Given the description of an element on the screen output the (x, y) to click on. 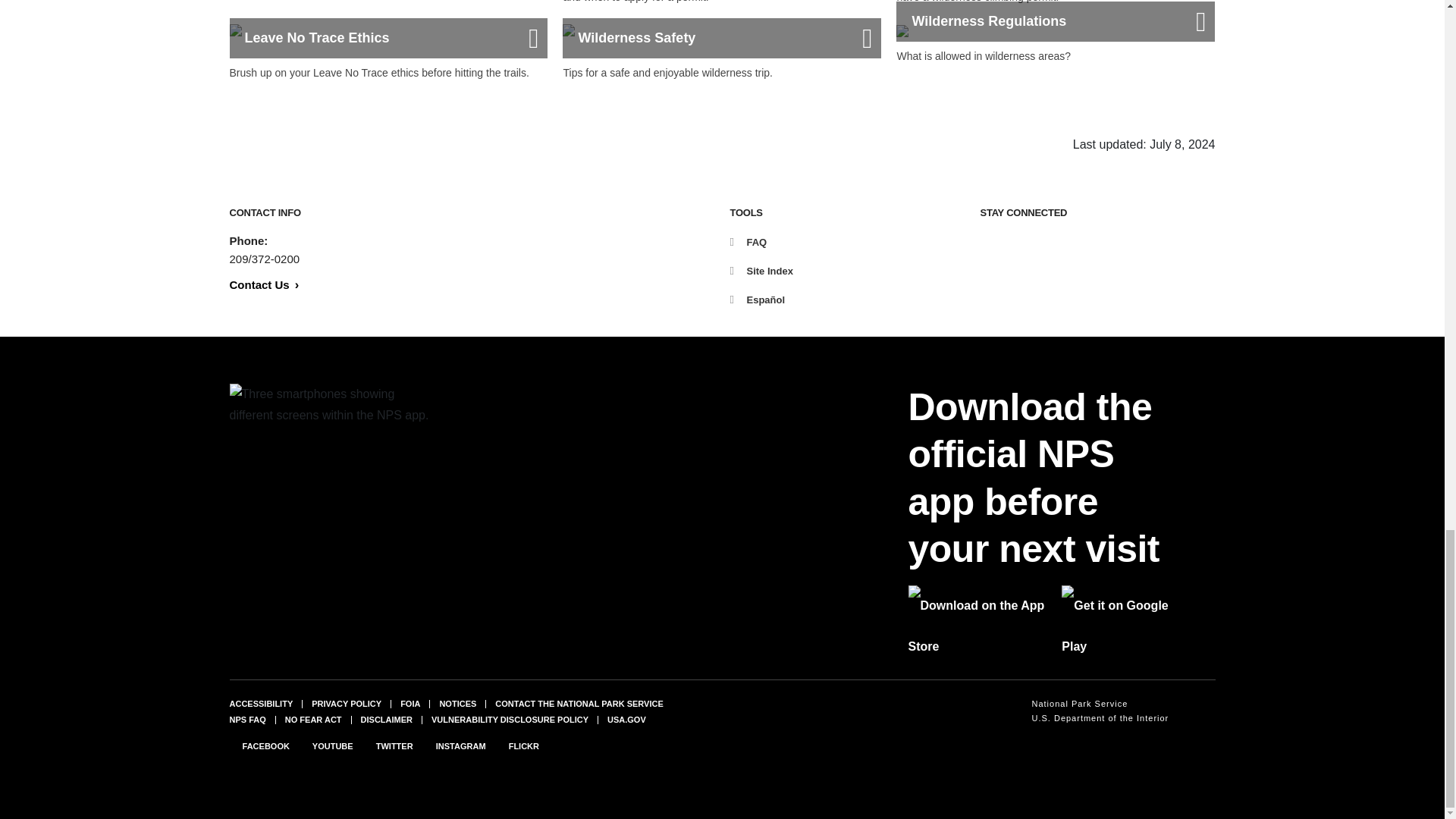
Wilderness Safety (721, 41)
Contact Us (263, 284)
National Park Service frequently asked questions (246, 718)
Leave No Trace Ethics (387, 41)
Wilderness Regulations (1055, 32)
